Given the description of an element on the screen output the (x, y) to click on. 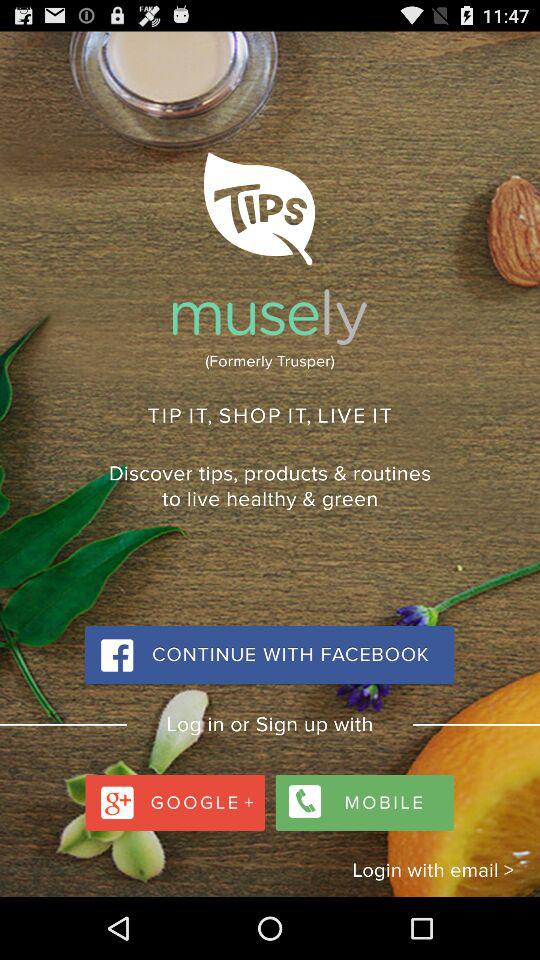
taggle google bar (177, 797)
